Given the description of an element on the screen output the (x, y) to click on. 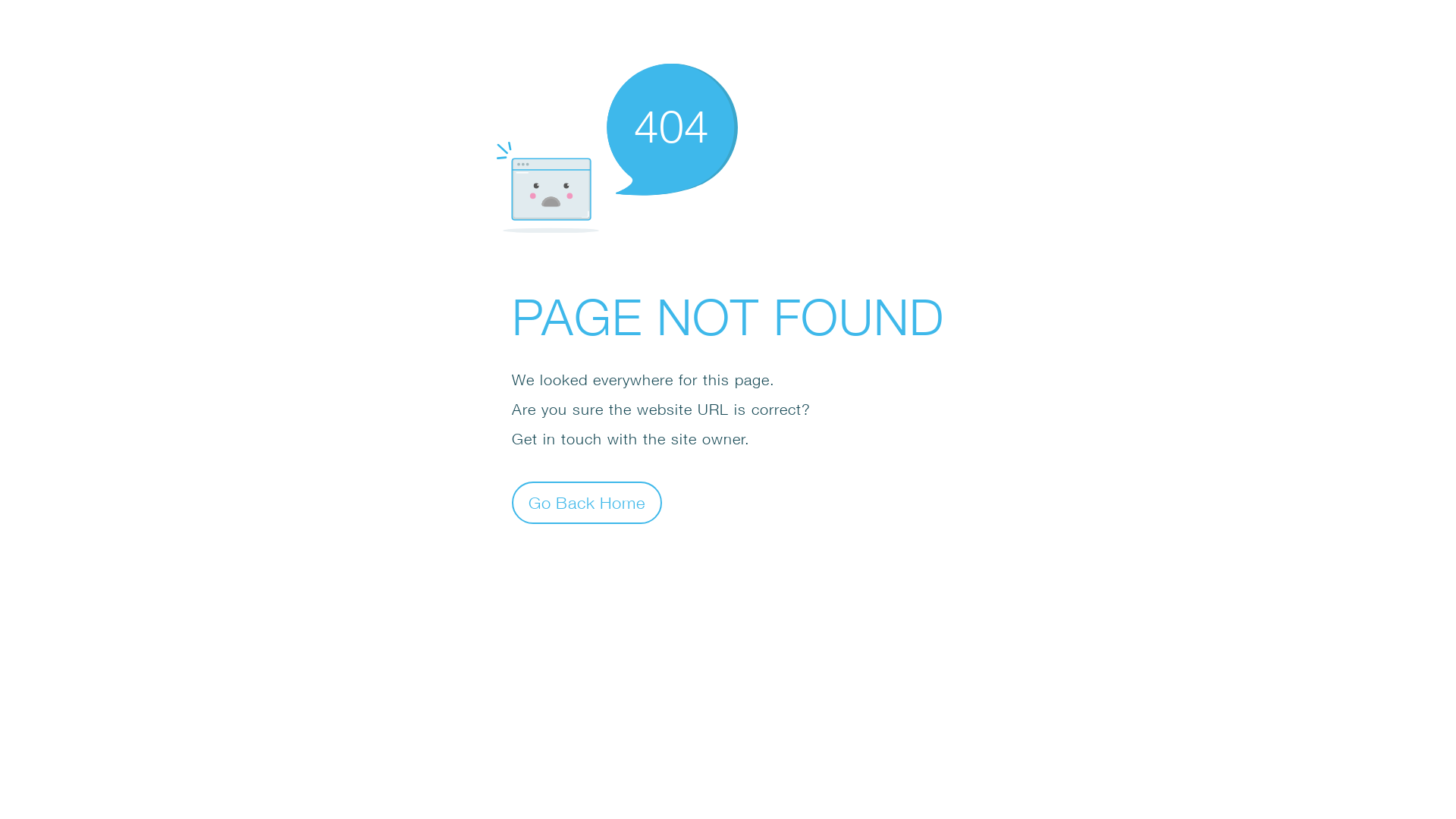
Go Back Home Element type: text (586, 502)
